Given the description of an element on the screen output the (x, y) to click on. 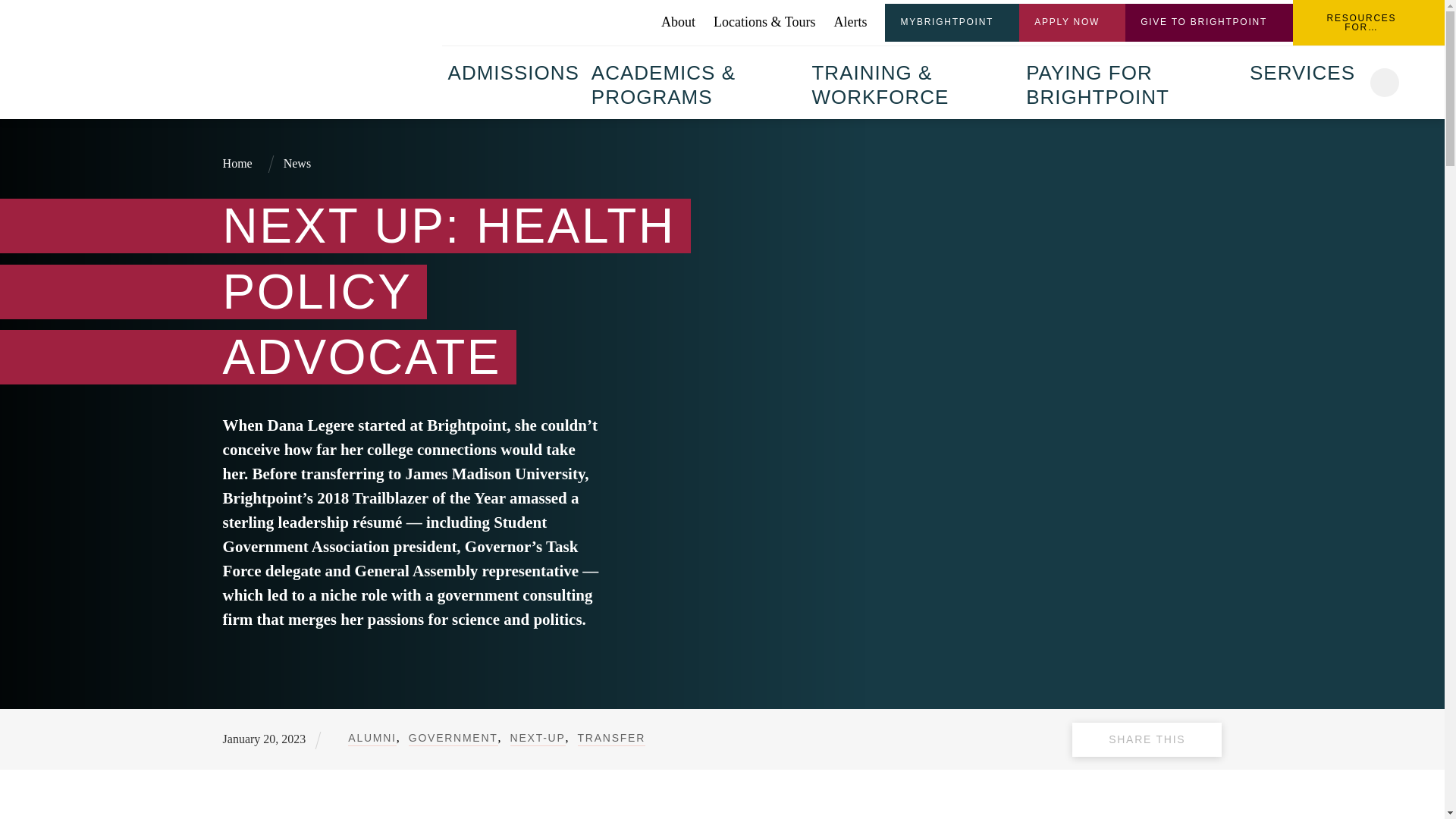
About (678, 22)
Alerts (850, 22)
Brightpoint (324, 57)
MYBRIGHTPOINT (952, 22)
ADMISSIONS (513, 70)
APPLY NOW (1072, 22)
GIVE TO BRIGHTPOINT (1208, 22)
